Given the description of an element on the screen output the (x, y) to click on. 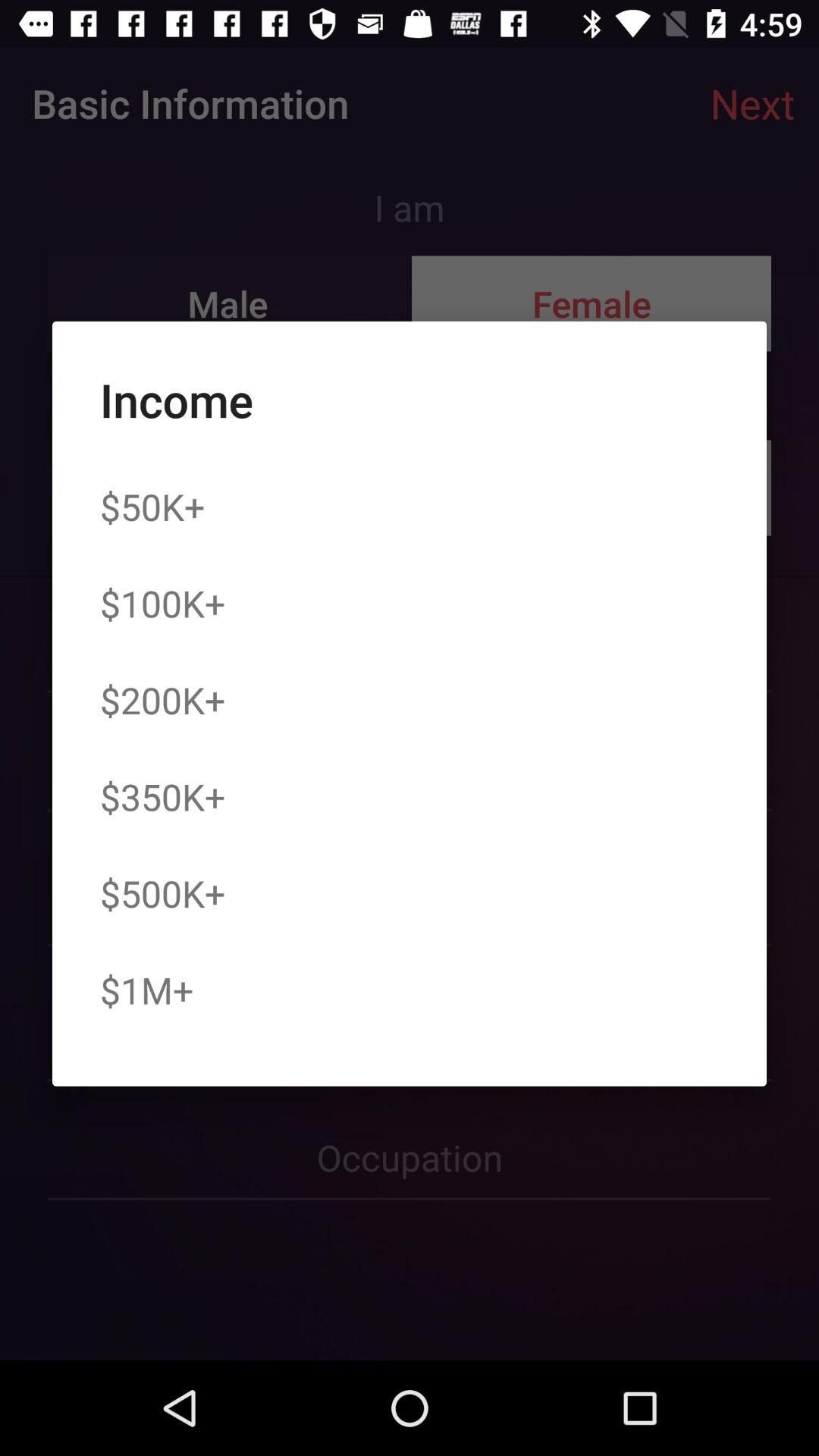
flip until the $200k+ (162, 699)
